Given the description of an element on the screen output the (x, y) to click on. 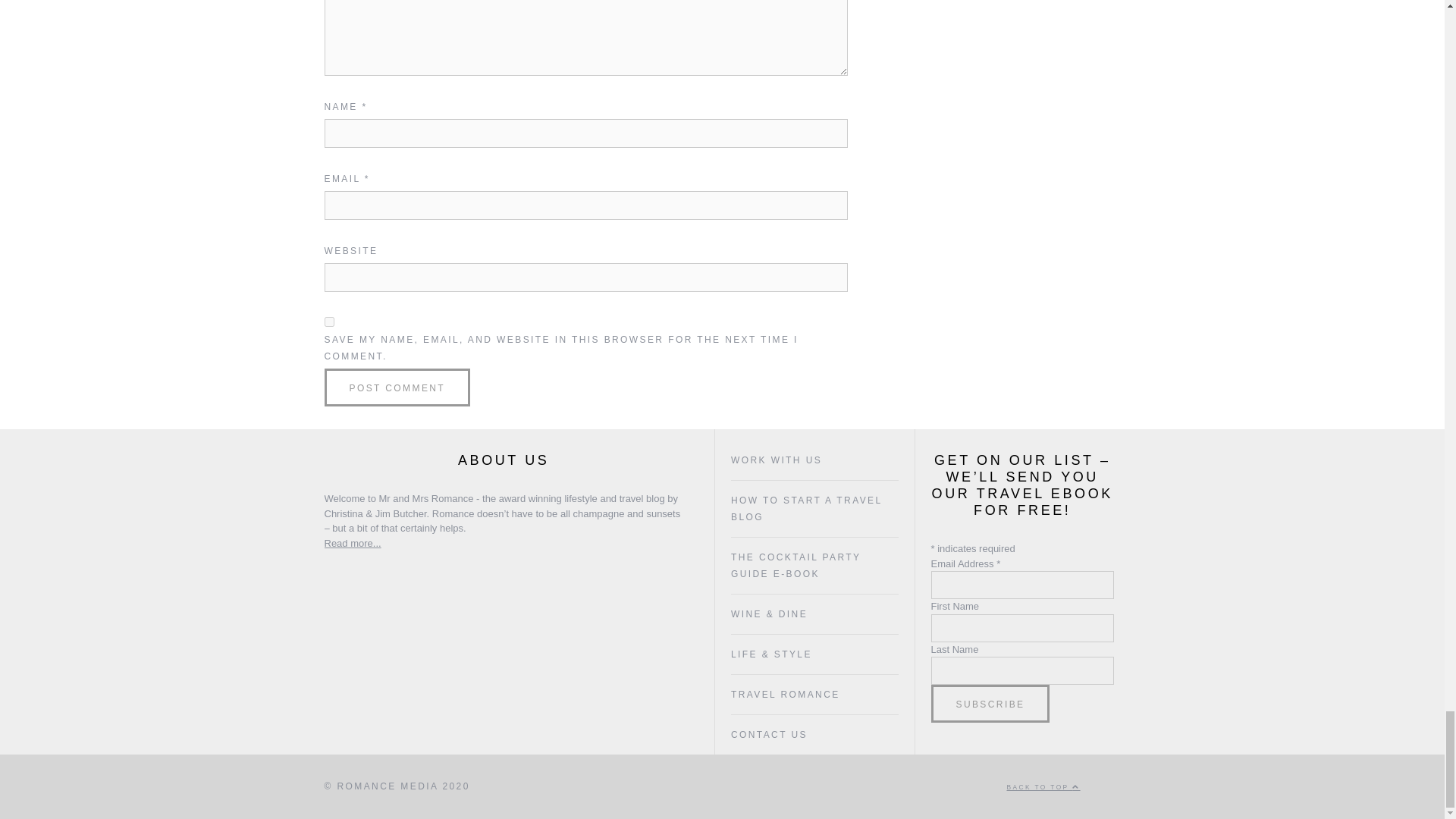
Post Comment (397, 387)
Subscribe (990, 703)
yes (329, 321)
